Given the description of an element on the screen output the (x, y) to click on. 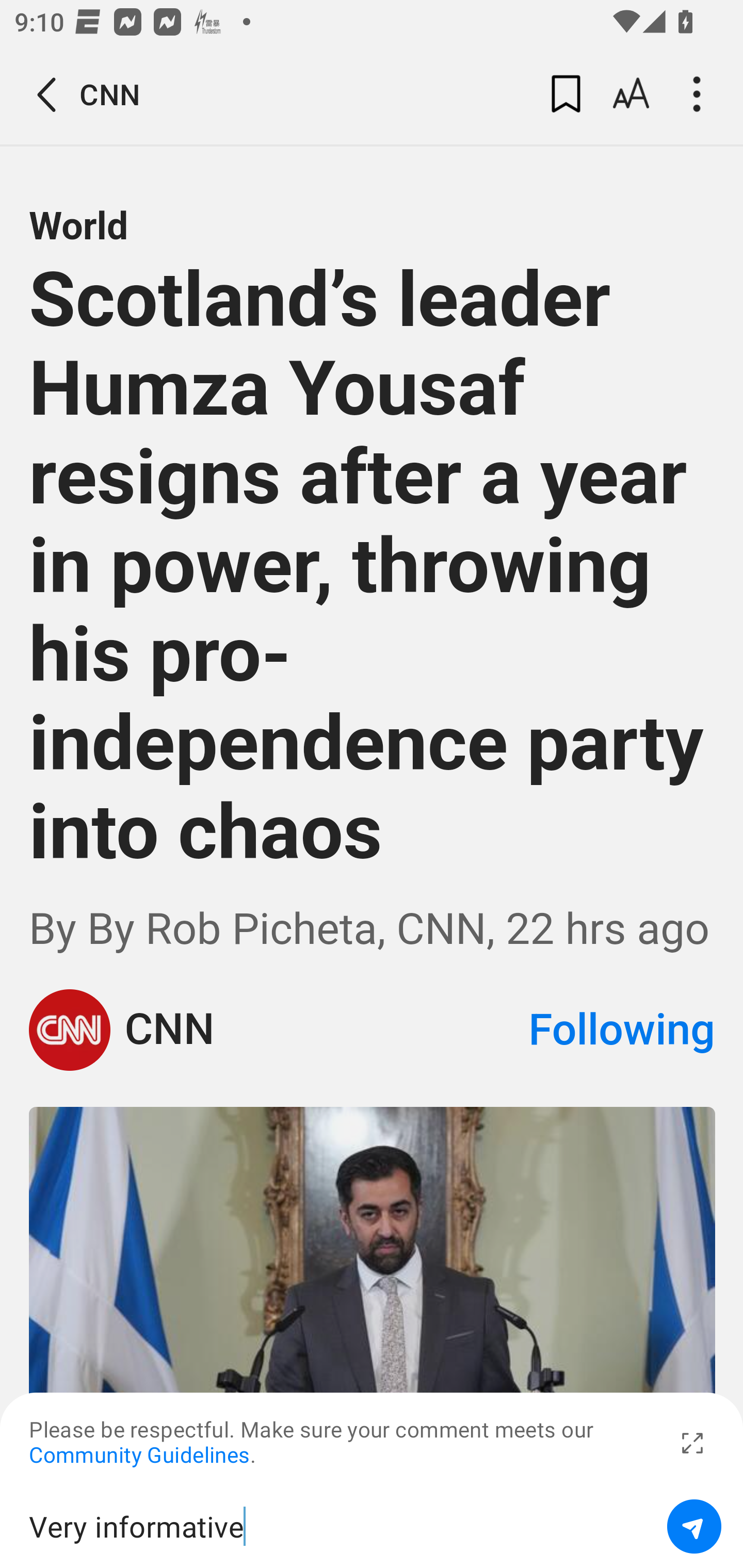
Very informative (340, 1526)
